Given the description of an element on the screen output the (x, y) to click on. 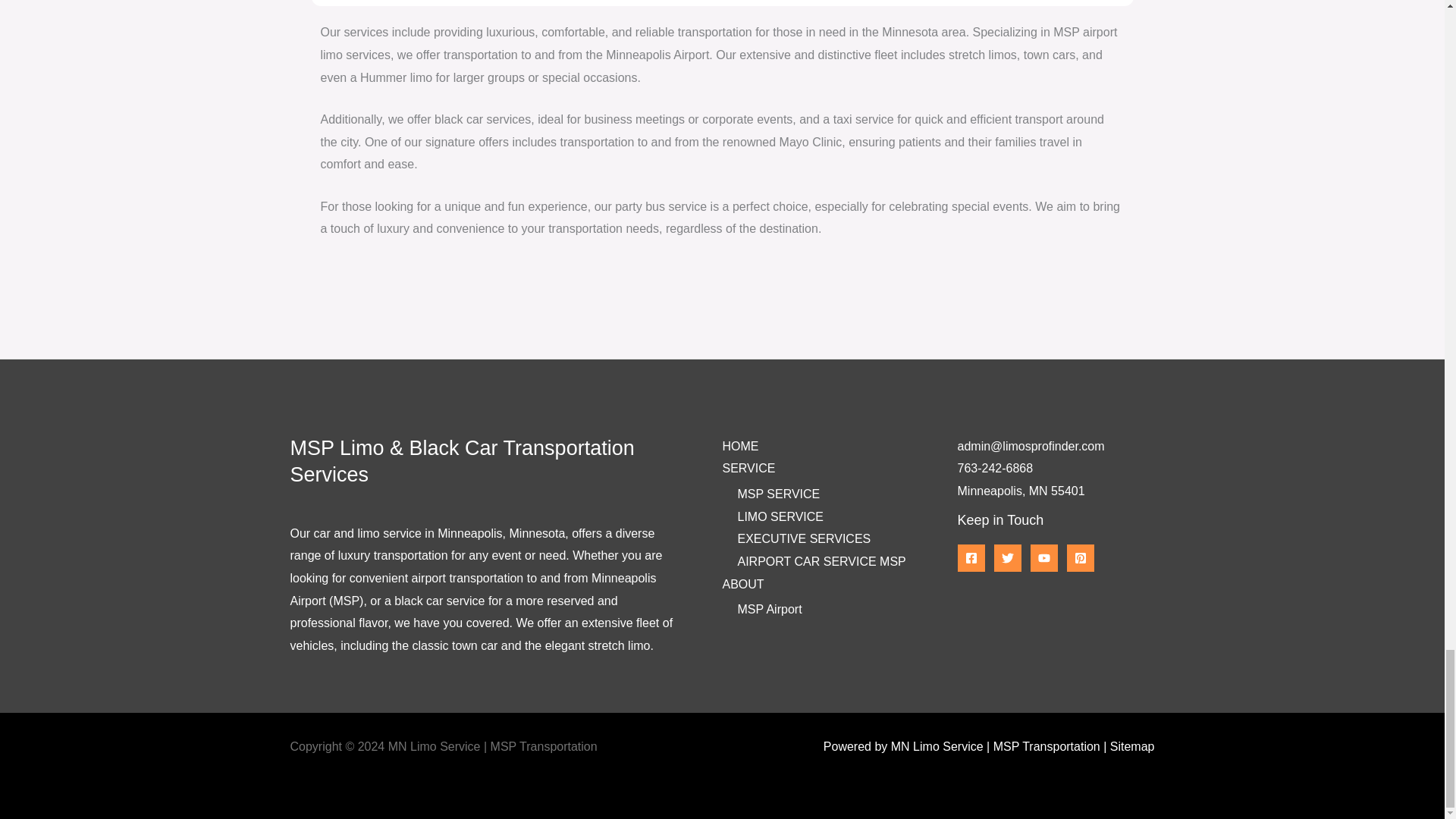
SERVICE (748, 468)
MSP SERVICE (777, 493)
HOME (740, 445)
AIRPORT CAR SERVICE MSP (820, 561)
ABOUT (742, 584)
LIMO SERVICE (780, 516)
MSP Airport (769, 608)
EXECUTIVE SERVICES (803, 538)
